Given the description of an element on the screen output the (x, y) to click on. 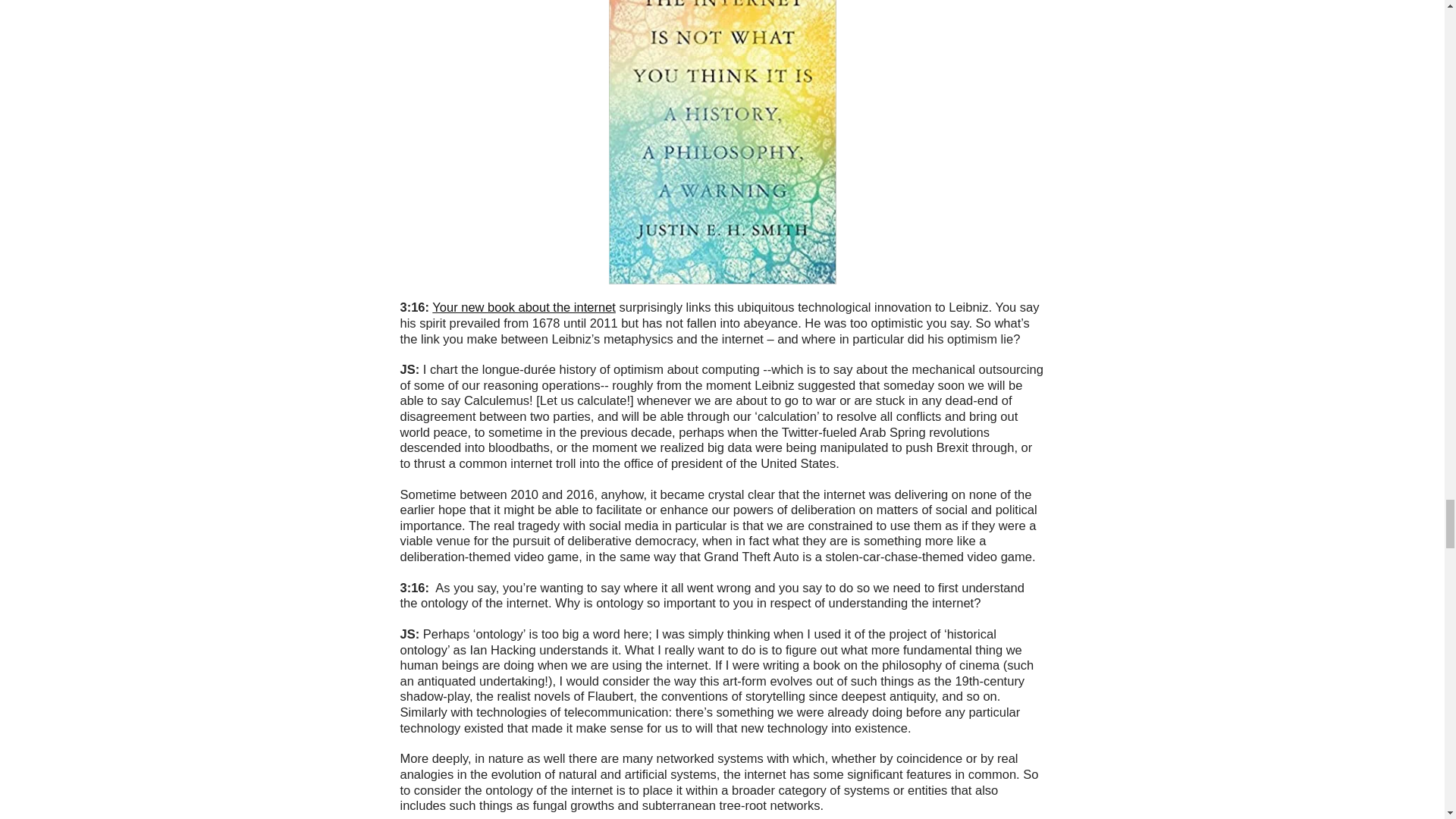
Your new book about the internet (523, 306)
